Given the description of an element on the screen output the (x, y) to click on. 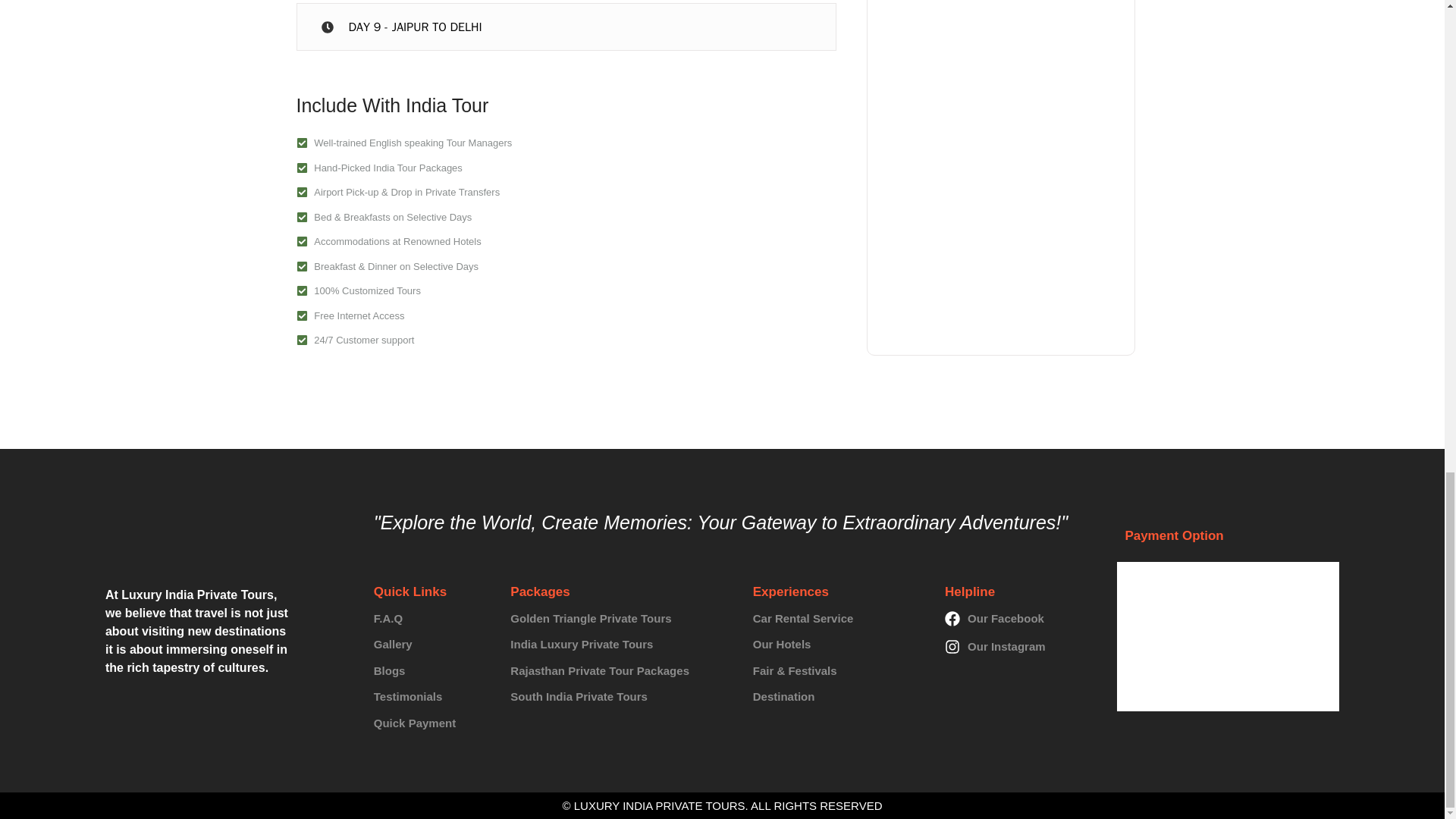
South India Private Tours (620, 696)
Rajasthan Private Tour Packages (620, 671)
Testimonials (430, 696)
Car Rental Service (836, 619)
Golden Triangle Private Tours (620, 619)
Gallery (430, 644)
India Luxury Private Tours (620, 644)
Our Hotels (836, 644)
Quick Payment (430, 723)
Blogs (430, 671)
